Given the description of an element on the screen output the (x, y) to click on. 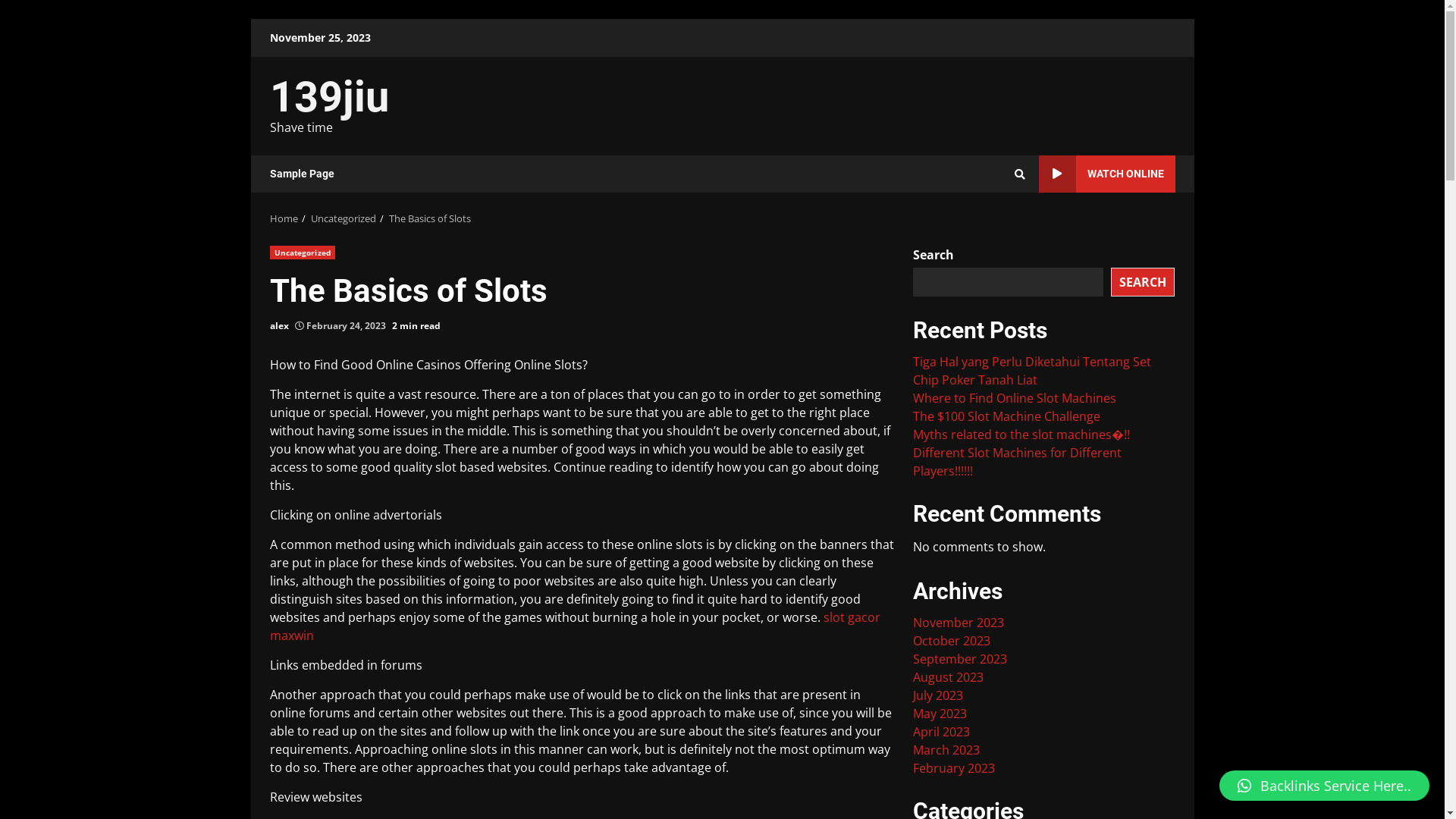
Where to Find Online Slot Machines Element type: text (1014, 397)
August 2023 Element type: text (948, 676)
Uncategorized Element type: text (343, 218)
November 2023 Element type: text (958, 622)
Backlinks Service Here.. Element type: text (1324, 785)
April 2023 Element type: text (941, 731)
July 2023 Element type: text (938, 695)
October 2023 Element type: text (951, 640)
Home Element type: text (283, 218)
The $100 Slot Machine Challenge Element type: text (1006, 415)
Different Slot Machines for Different Players!!!!!! Element type: text (1017, 461)
May 2023 Element type: text (939, 713)
Sample Page Element type: text (301, 173)
SEARCH Element type: text (1142, 280)
The Basics of Slots Element type: text (429, 218)
February 2023 Element type: text (953, 767)
Search Element type: text (991, 225)
Skip to content Element type: text (250, 18)
March 2023 Element type: text (946, 749)
139jiu Element type: text (329, 97)
Search Element type: hover (1019, 173)
September 2023 Element type: text (960, 658)
WATCH ONLINE Element type: text (1106, 173)
alex Element type: text (278, 325)
slot gacor maxwin Element type: text (574, 625)
Uncategorized Element type: text (302, 252)
